Given the description of an element on the screen output the (x, y) to click on. 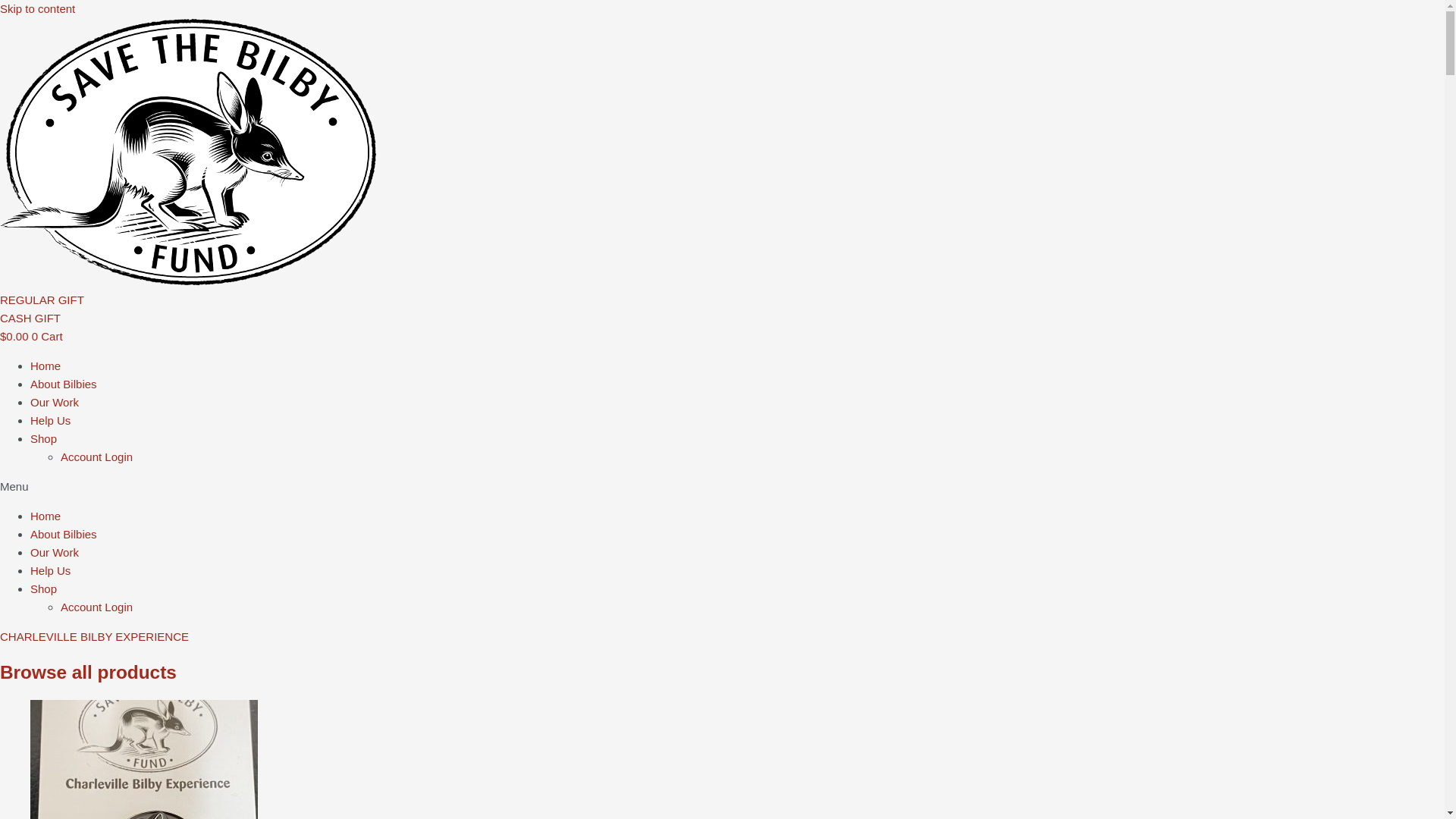
Account Login Element type: text (96, 606)
Help Us Element type: text (50, 420)
Shop Element type: text (43, 588)
Account Login Element type: text (96, 456)
Help Us Element type: text (50, 570)
Skip to content Element type: text (37, 8)
CHARLEVILLE BILBY EXPERIENCE Element type: text (94, 636)
About Bilbies Element type: text (63, 533)
About Bilbies Element type: text (63, 383)
REGULAR GIFT Element type: text (42, 299)
Our Work Element type: text (54, 401)
Home Element type: text (45, 365)
Shop Element type: text (43, 438)
$0.00 0 Cart Element type: text (31, 335)
Home Element type: text (45, 515)
CASH GIFT Element type: text (30, 317)
Our Work Element type: text (54, 552)
